Given the description of an element on the screen output the (x, y) to click on. 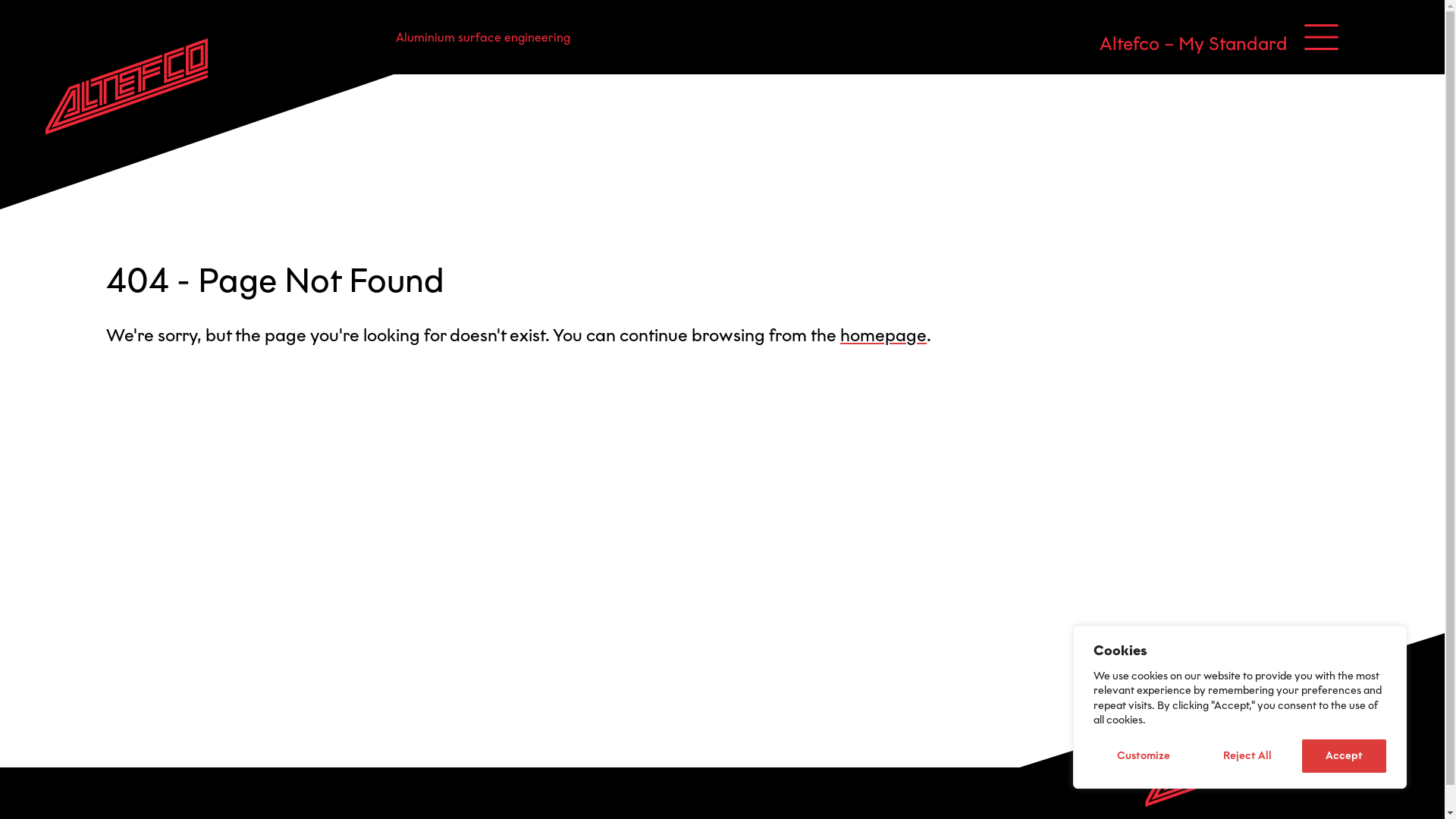
Reject All Element type: text (1247, 755)
Customize Element type: text (1143, 755)
Accept Element type: text (1344, 755)
homepage Element type: text (883, 334)
